Given the description of an element on the screen output the (x, y) to click on. 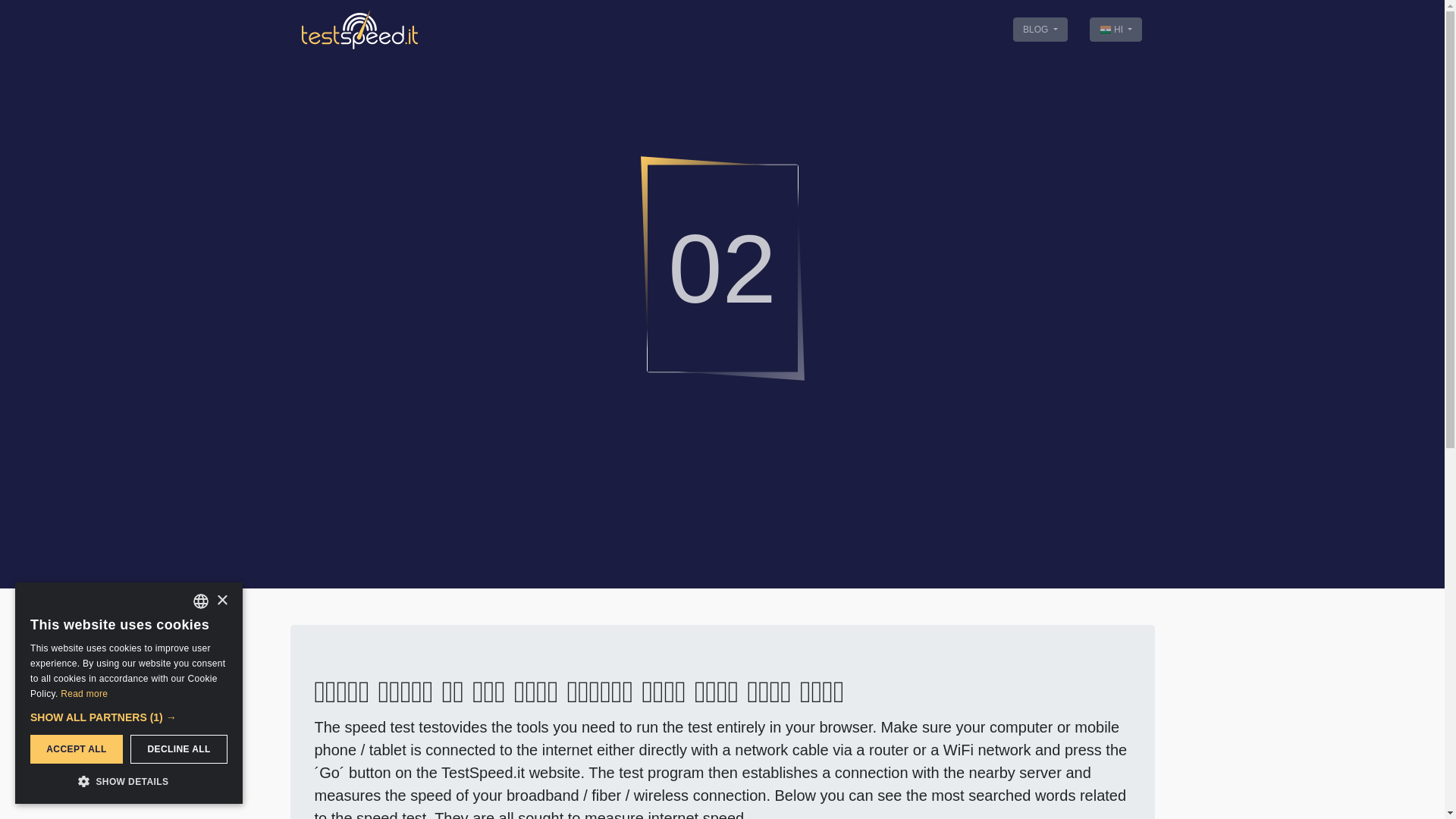
HI (1115, 29)
BLOG (1040, 29)
